Given the description of an element on the screen output the (x, y) to click on. 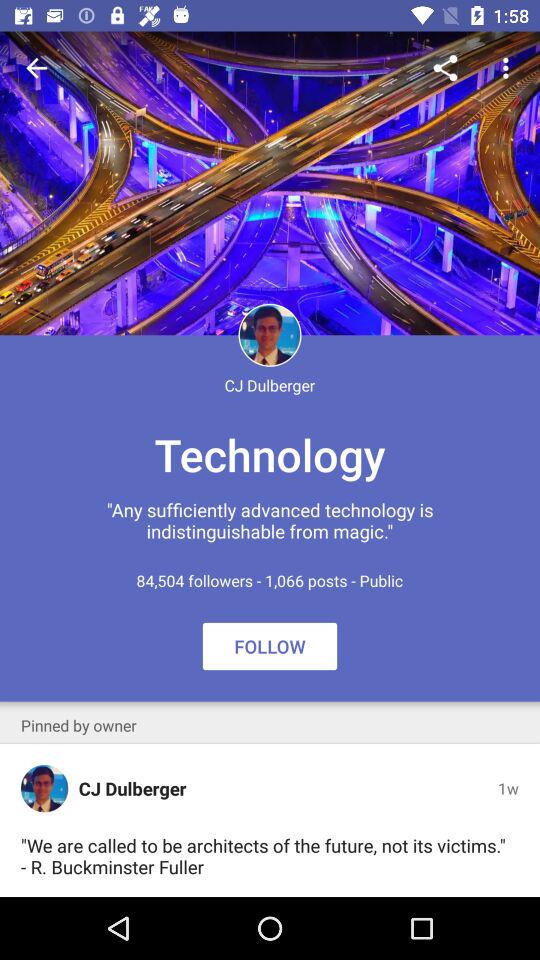
swipe to the pinned by owner app (78, 725)
